Given the description of an element on the screen output the (x, y) to click on. 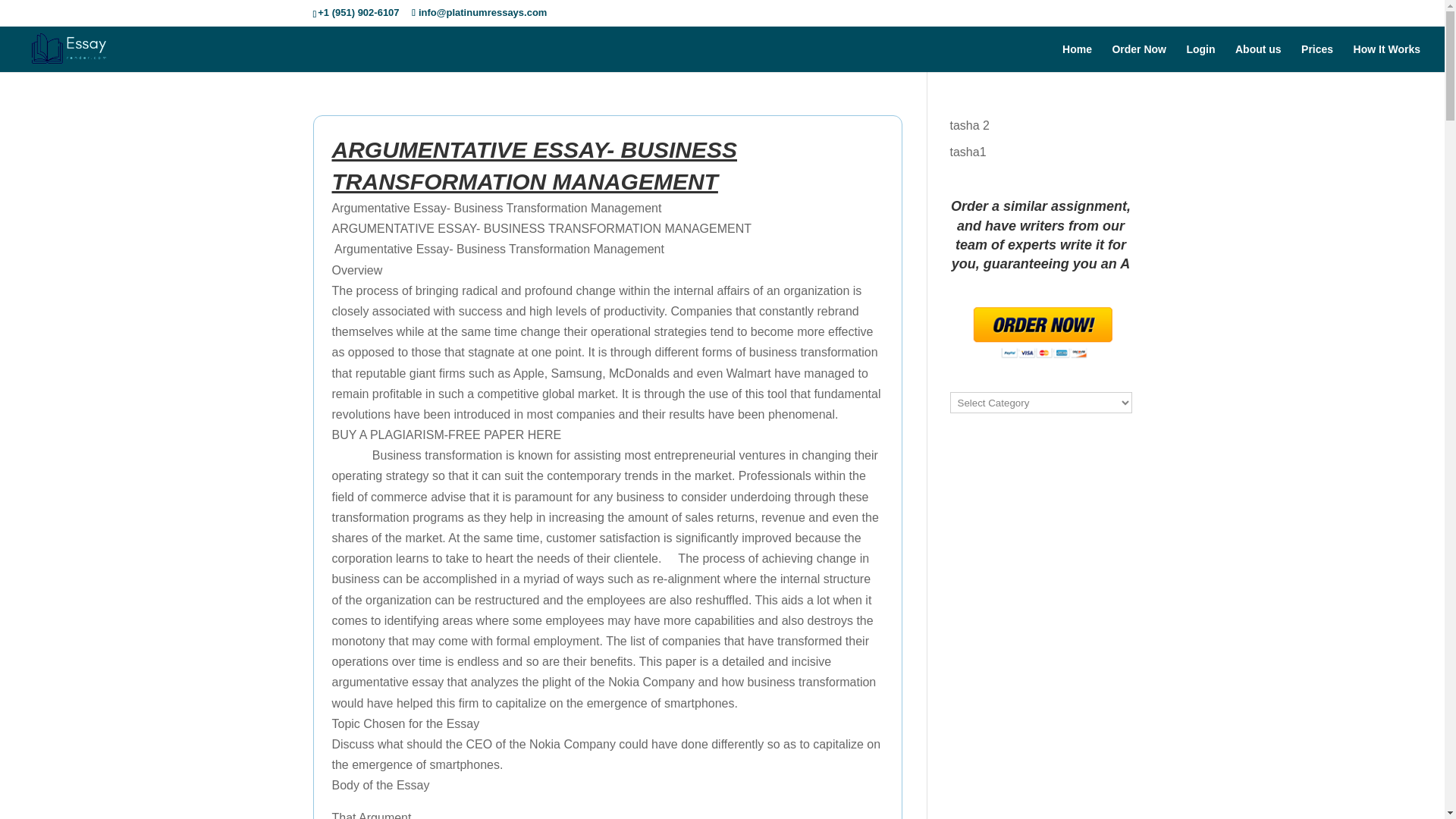
About us (1257, 58)
How It Works (1387, 58)
Order Now (1139, 58)
tasha1 (967, 151)
Home (1077, 58)
Login (1200, 58)
Prices (1317, 58)
tasha 2 (968, 124)
